Given the description of an element on the screen output the (x, y) to click on. 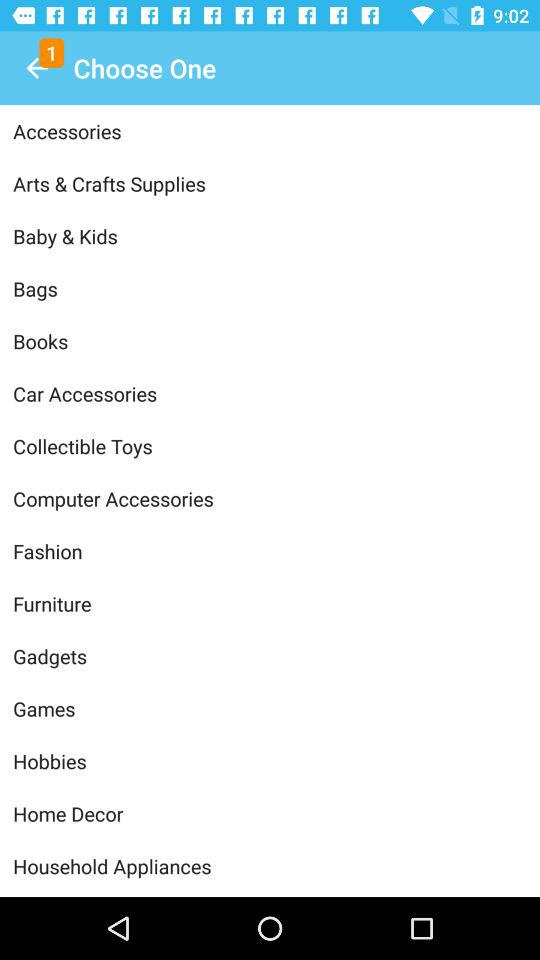
open bags item (269, 288)
